Given the description of an element on the screen output the (x, y) to click on. 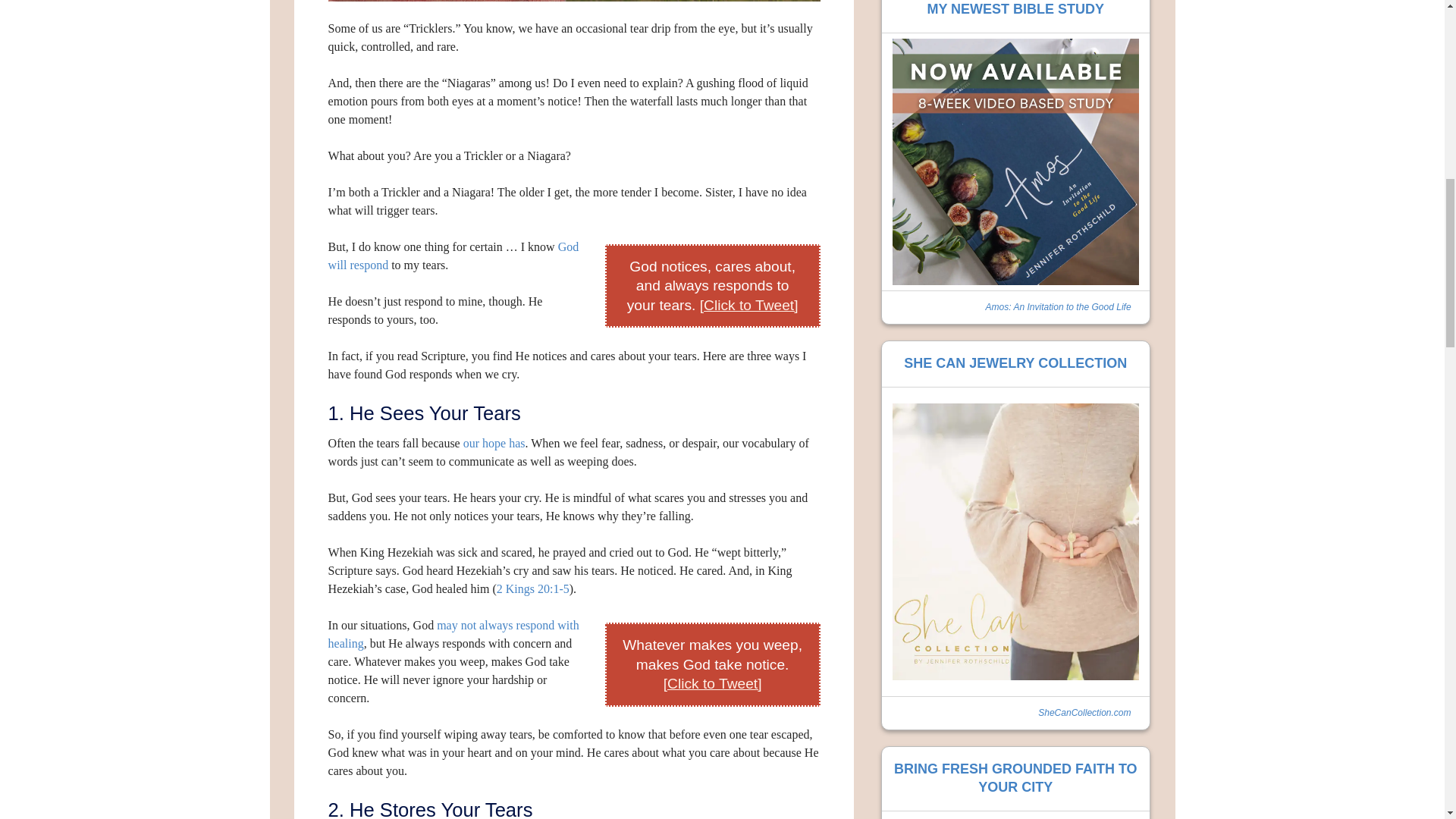
may not always respond with healing (454, 634)
2 Kings 20:1-5 (532, 588)
our hope has (494, 442)
God will respond (454, 255)
